Given the description of an element on the screen output the (x, y) to click on. 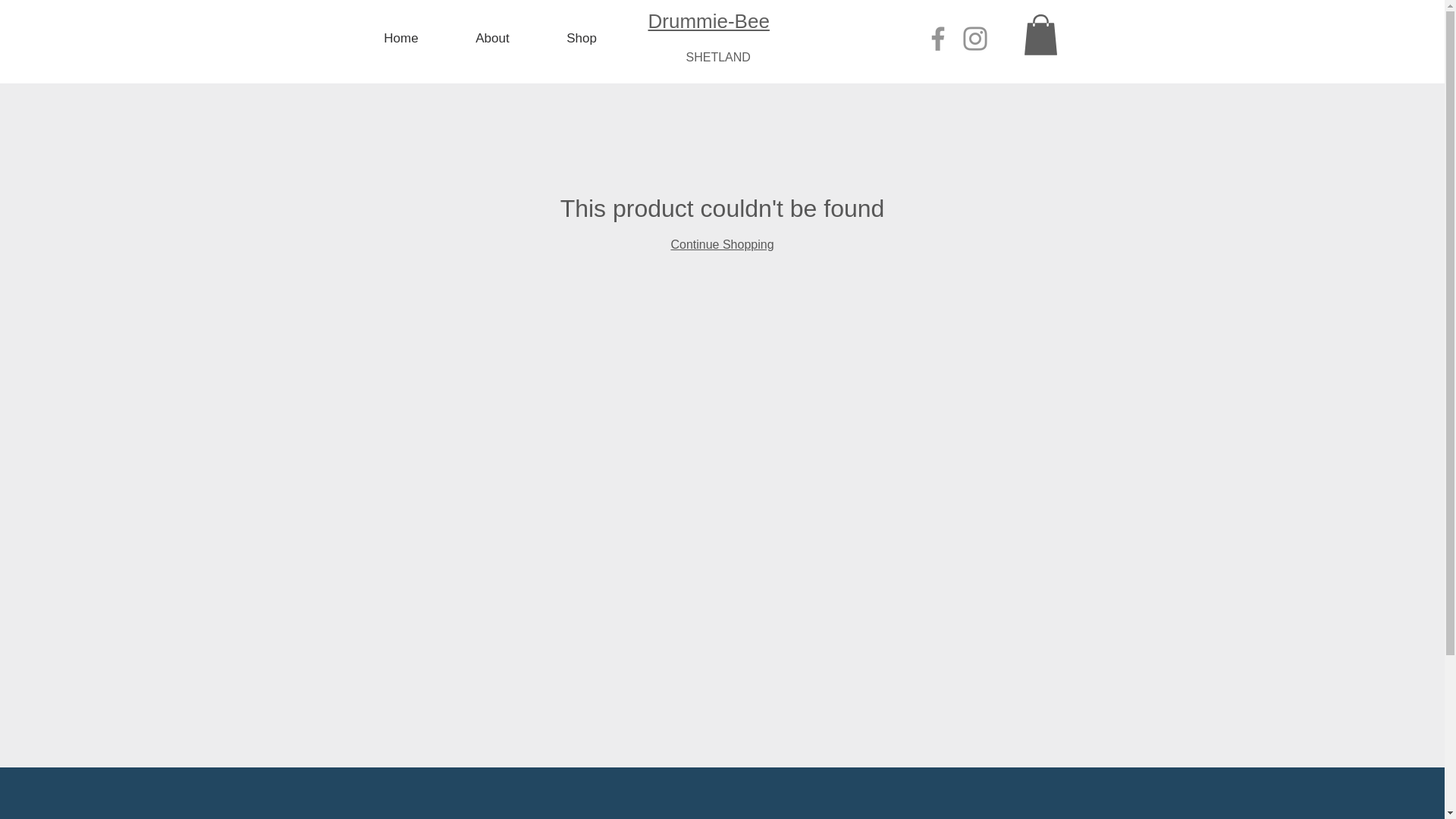
Home (400, 38)
About (492, 38)
Continue Shopping (721, 244)
Drummie-Bee (707, 20)
Shop (582, 38)
Contact (477, 814)
